Given the description of an element on the screen output the (x, y) to click on. 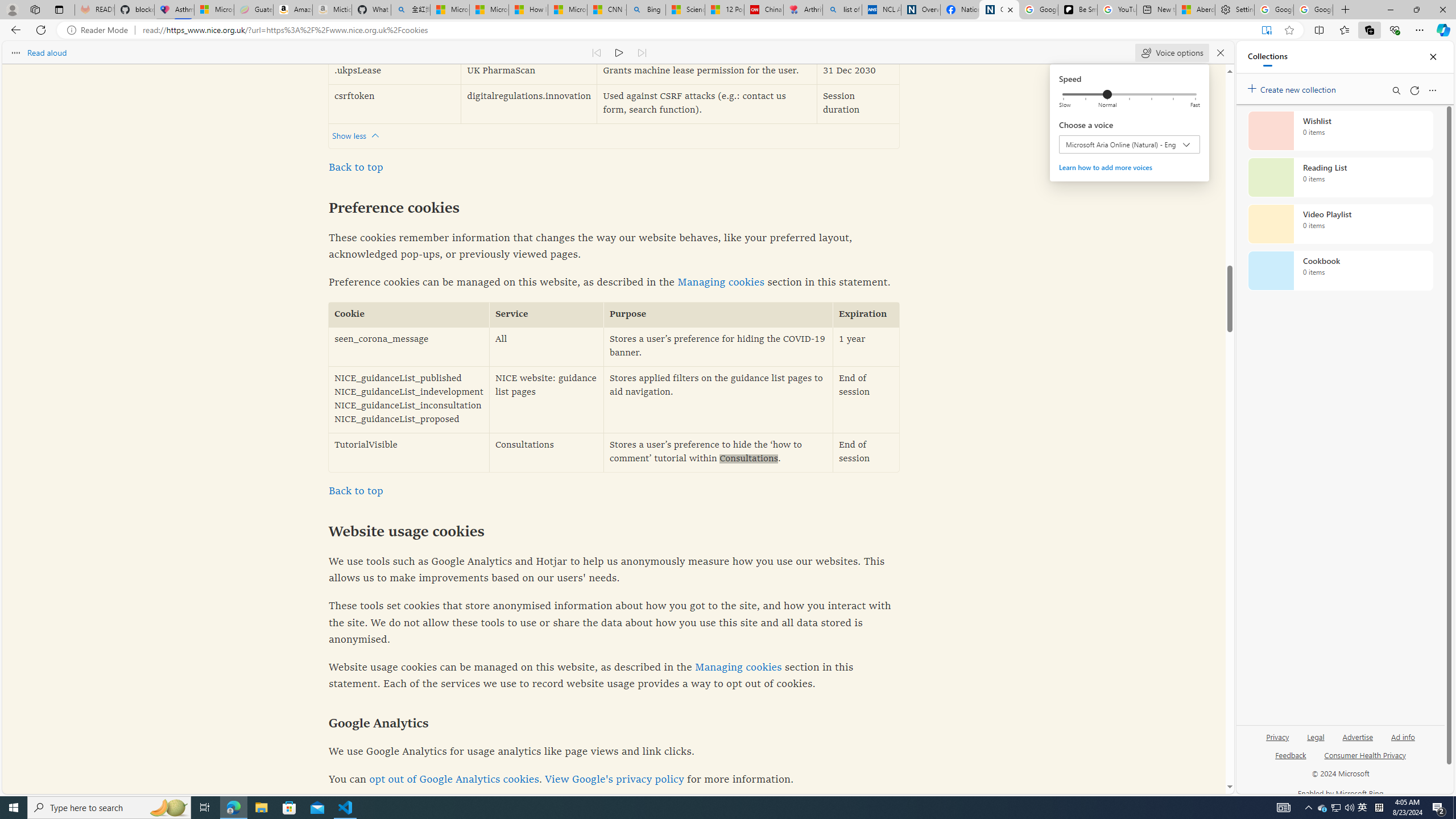
Read next paragraph (641, 52)
Privacy (1278, 736)
How I Got Rid of Microsoft Edge's Unnecessary Features (528, 9)
Arthritis: Ask Health Professionals (802, 9)
Ad info (1402, 741)
TutorialVisible (408, 452)
Aberdeen, Hong Kong SAR hourly forecast | Microsoft Weather (1195, 9)
Service (546, 315)
Cookies (999, 9)
